Given the description of an element on the screen output the (x, y) to click on. 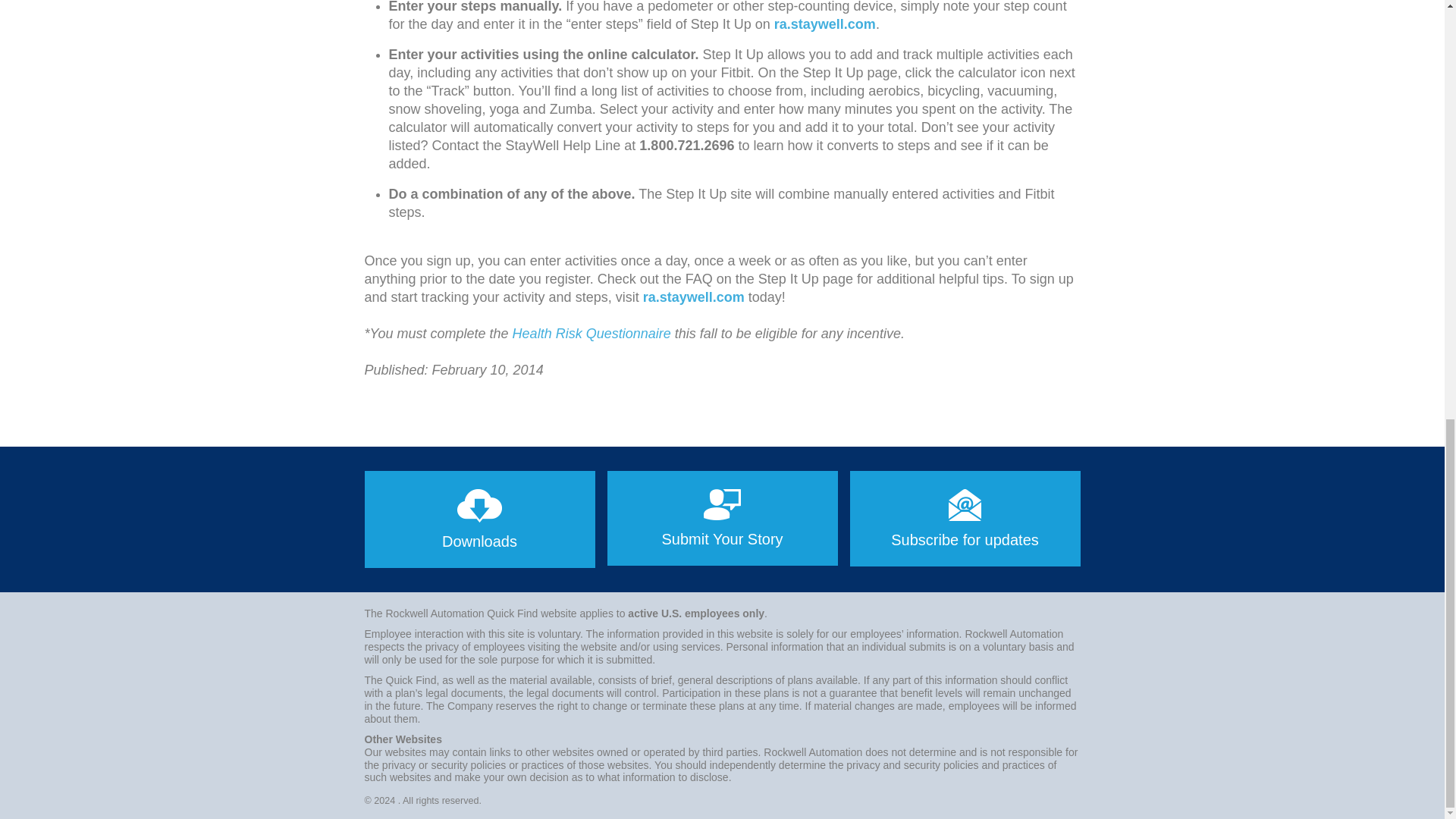
ra.staywell.com (693, 296)
ra.staywell.com (825, 23)
Health Risk Questionnaire (591, 333)
Submit Your Story (722, 517)
Subscribe for updates (964, 518)
Downloads (479, 519)
